Given the description of an element on the screen output the (x, y) to click on. 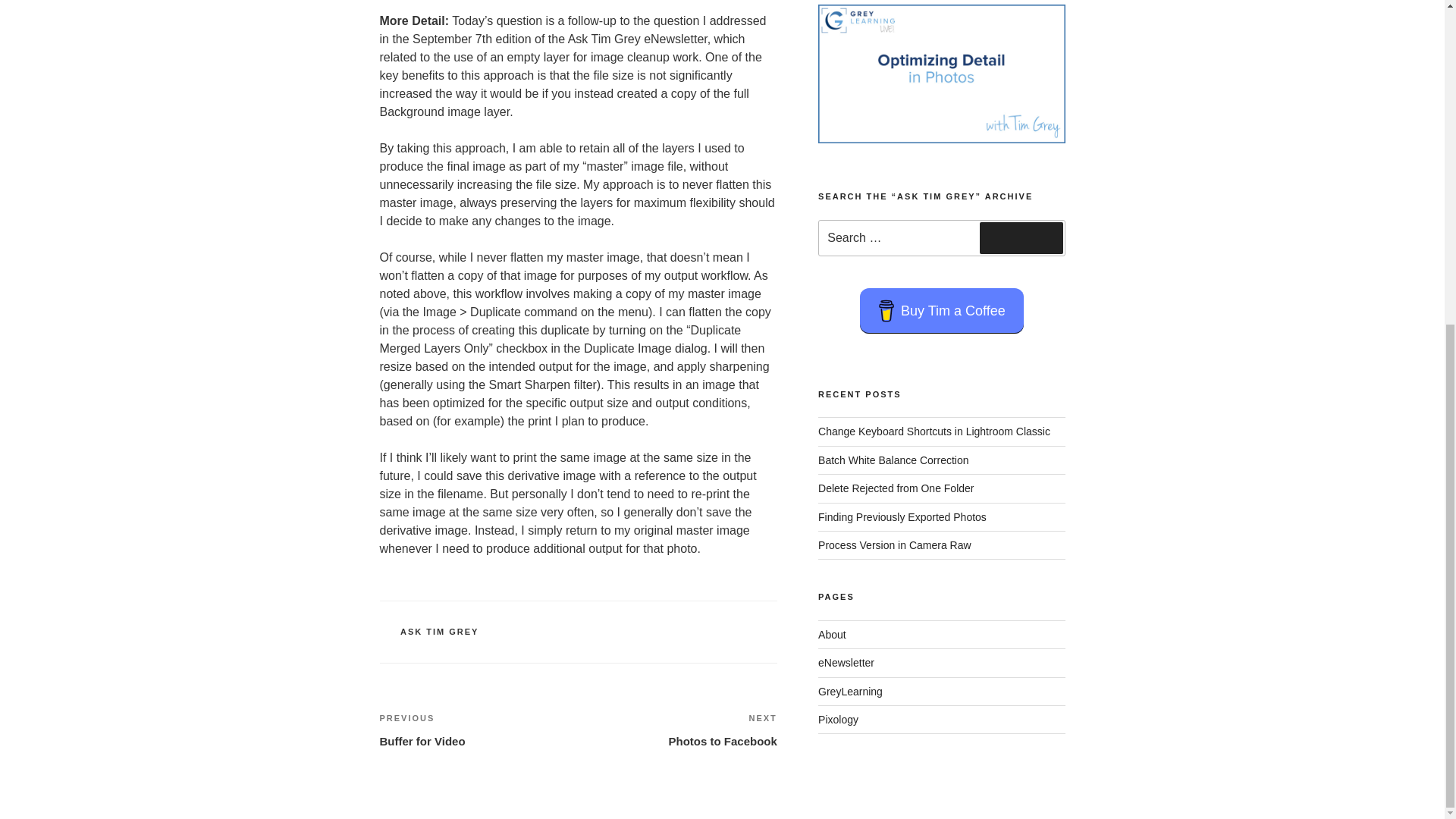
Search (1020, 237)
About (831, 634)
GreyLearning (850, 691)
Finding Previously Exported Photos (902, 517)
Process Version in Camera Raw (894, 544)
eNewsletter (478, 729)
Change Keyboard Shortcuts in Lightroom Classic (846, 662)
Batch White Balance Correction (677, 729)
